Given the description of an element on the screen output the (x, y) to click on. 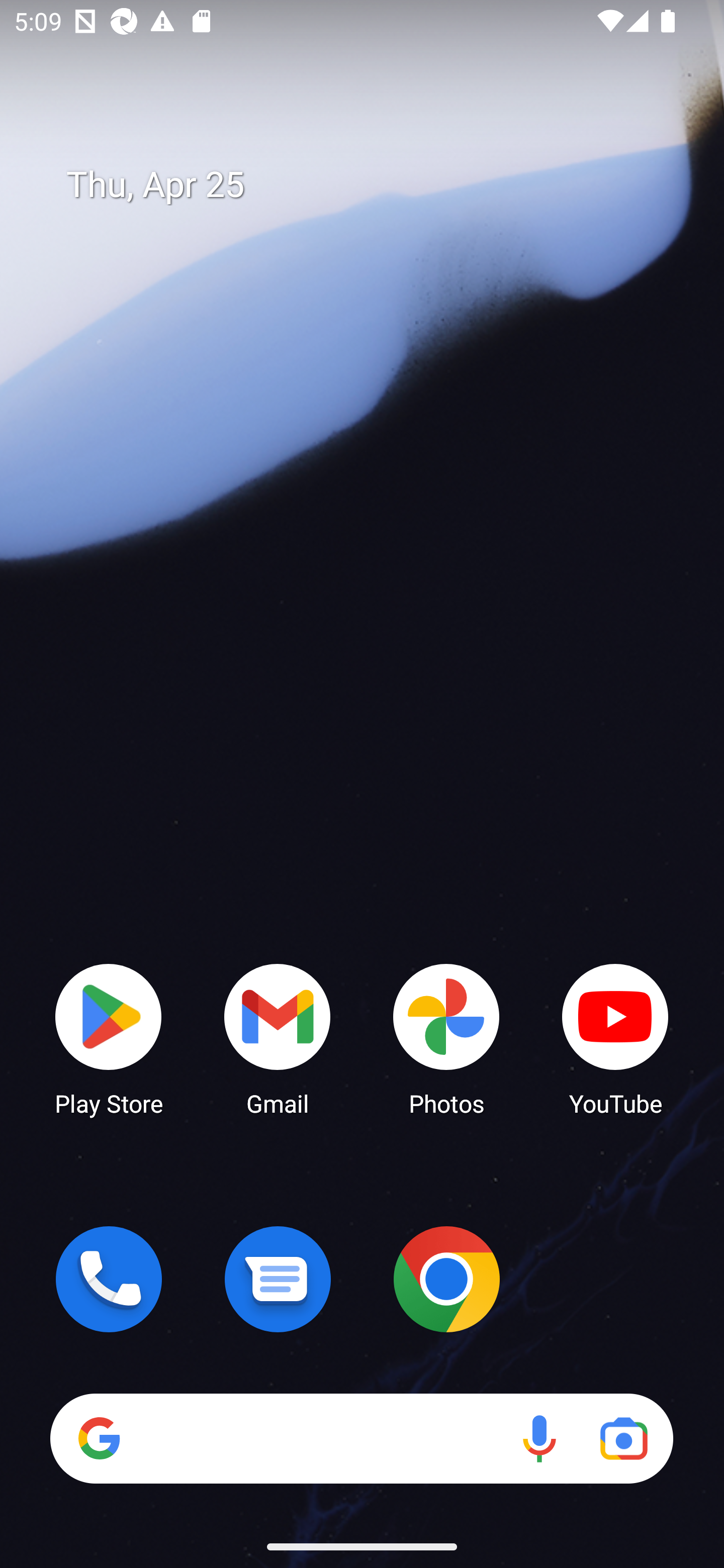
Thu, Apr 25 (375, 184)
Play Store (108, 1038)
Gmail (277, 1038)
Photos (445, 1038)
YouTube (615, 1038)
Phone (108, 1279)
Messages (277, 1279)
Chrome (446, 1279)
Search Voice search Google Lens (361, 1438)
Voice search (539, 1438)
Google Lens (623, 1438)
